Given the description of an element on the screen output the (x, y) to click on. 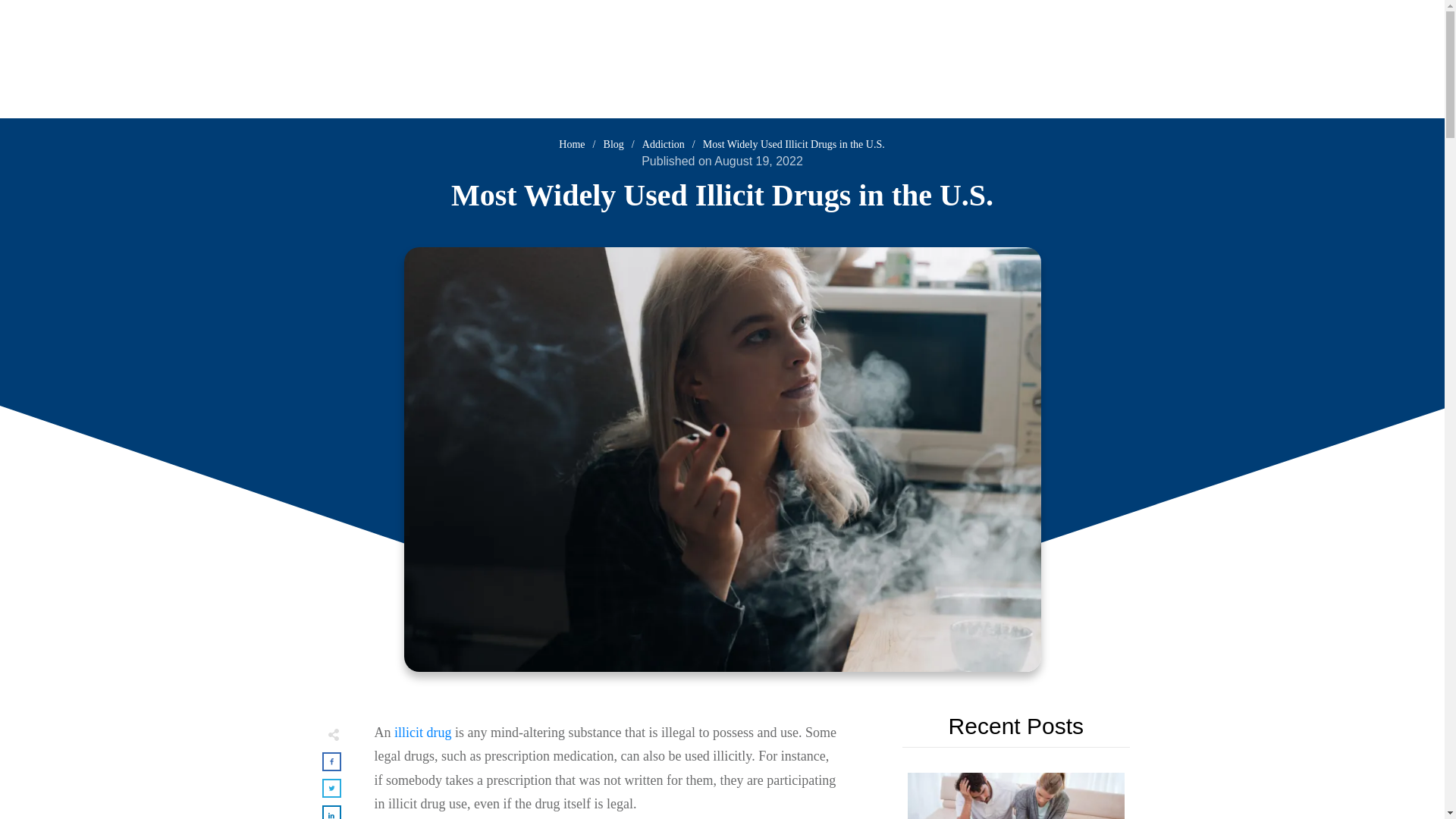
illicit drug (422, 732)
Home (572, 143)
Blog (614, 143)
Addiction (663, 143)
